Given the description of an element on the screen output the (x, y) to click on. 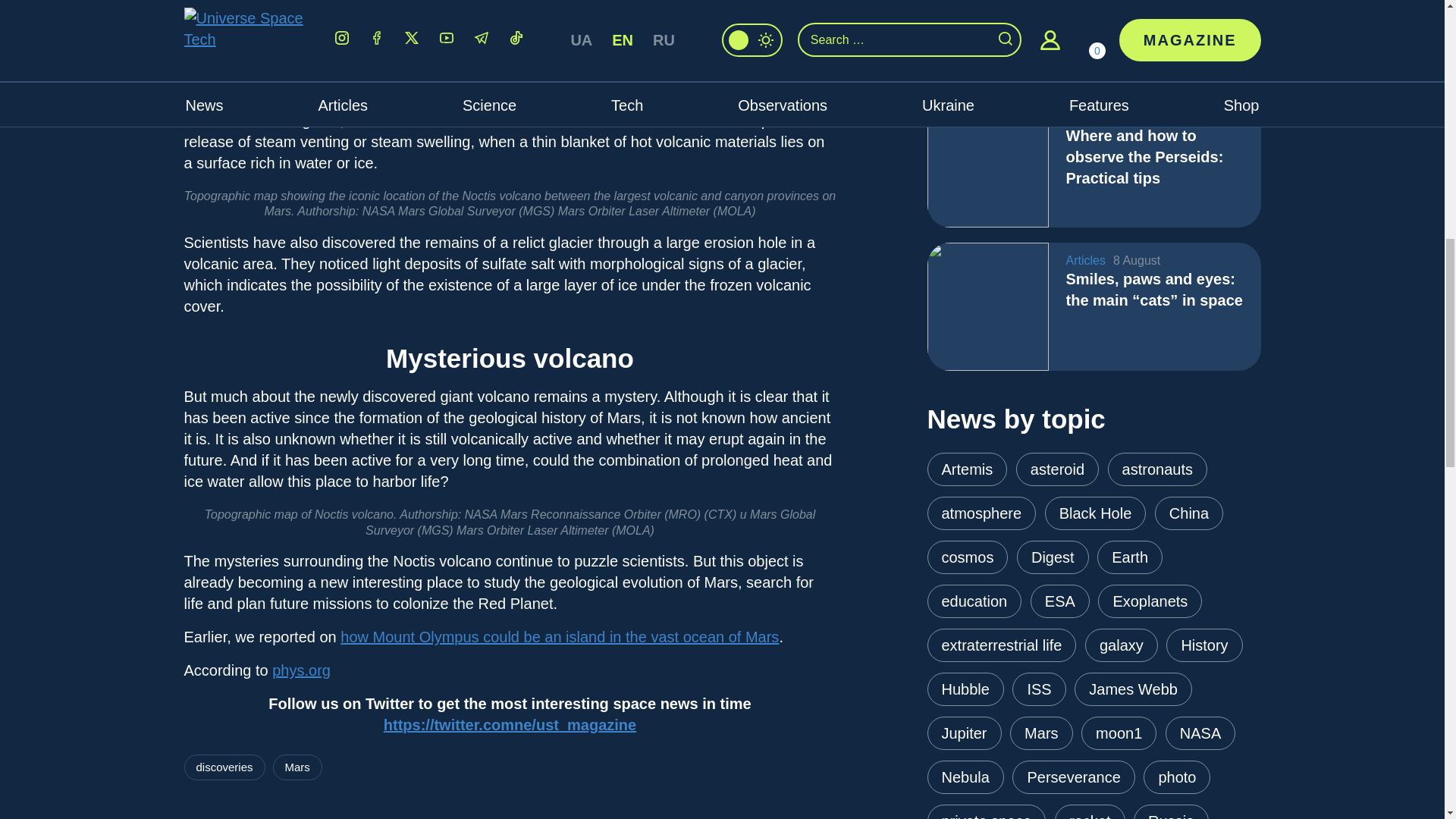
Jupiter and Mars conjunction will decorate Taurus (987, 42)
phys.org (301, 669)
Where and how to observe the Perseids: Practical tips (987, 162)
